Given the description of an element on the screen output the (x, y) to click on. 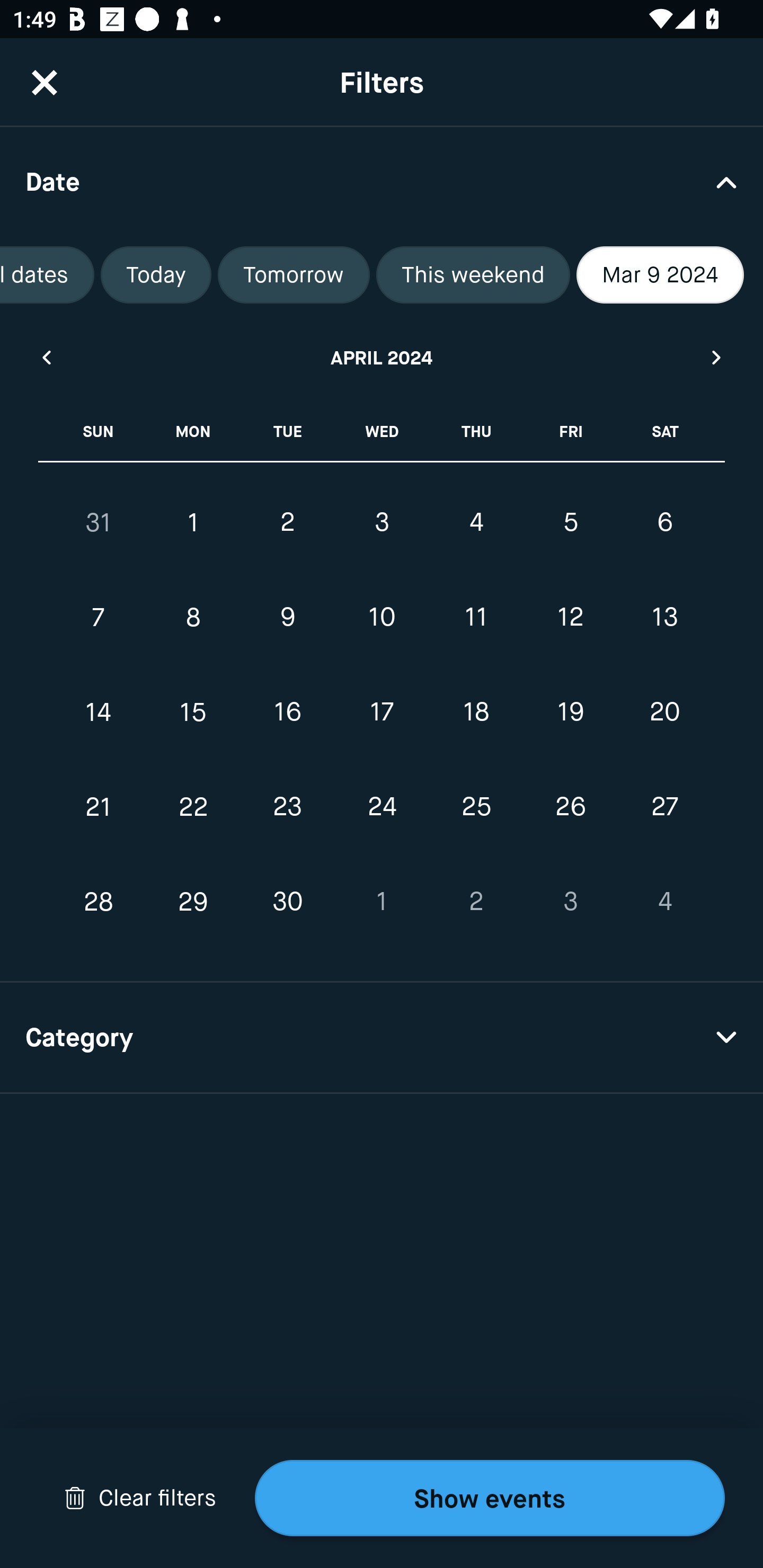
CloseButton (44, 82)
Date Drop Down Arrow (381, 181)
Today (155, 274)
Tomorrow (293, 274)
This weekend (472, 274)
Mar 9 2024 (659, 274)
Previous (45, 357)
Next (717, 357)
31 (98, 522)
1 (192, 522)
2 (287, 522)
3 (381, 522)
4 (475, 522)
5 (570, 522)
6 (664, 522)
7 (98, 617)
8 (192, 617)
9 (287, 617)
10 (381, 617)
11 (475, 617)
12 (570, 617)
13 (664, 617)
14 (98, 711)
15 (192, 711)
16 (287, 711)
17 (381, 711)
18 (475, 711)
19 (570, 711)
20 (664, 711)
21 (98, 806)
22 (192, 806)
23 (287, 806)
24 (381, 806)
25 (475, 806)
26 (570, 806)
27 (664, 806)
28 (98, 901)
29 (192, 901)
30 (287, 901)
1 (381, 901)
2 (475, 901)
3 (570, 901)
4 (664, 901)
Category Drop Down Arrow (381, 1038)
Drop Down Arrow Clear filters (139, 1497)
Show events (489, 1497)
